Given the description of an element on the screen output the (x, y) to click on. 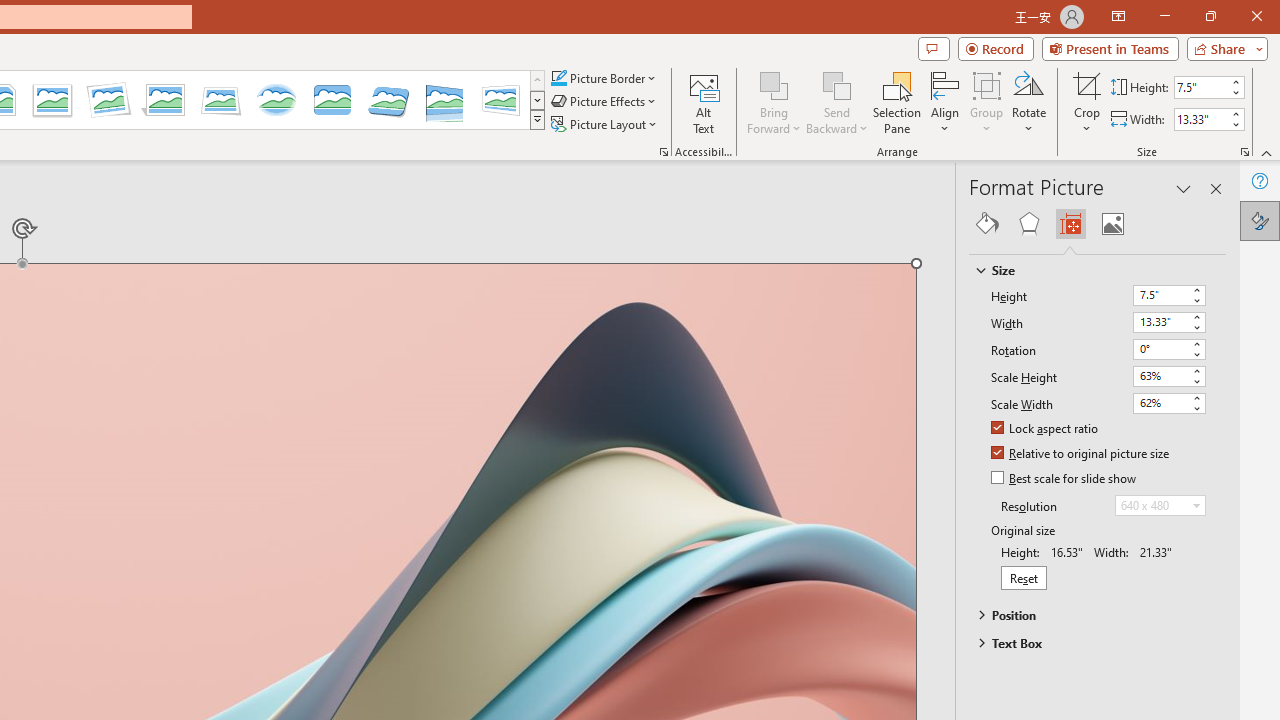
Less (1235, 124)
Moderate Frame, White (52, 100)
Height (1160, 294)
Size & Properties (1070, 223)
Best scale for slide show (1065, 479)
Reset (1023, 577)
Shape Height (1201, 87)
Scale Width (1168, 403)
Scale Height (1168, 376)
Size and Position... (1244, 151)
Align (945, 102)
Text Box (1088, 643)
Format Picture (1260, 220)
